Given the description of an element on the screen output the (x, y) to click on. 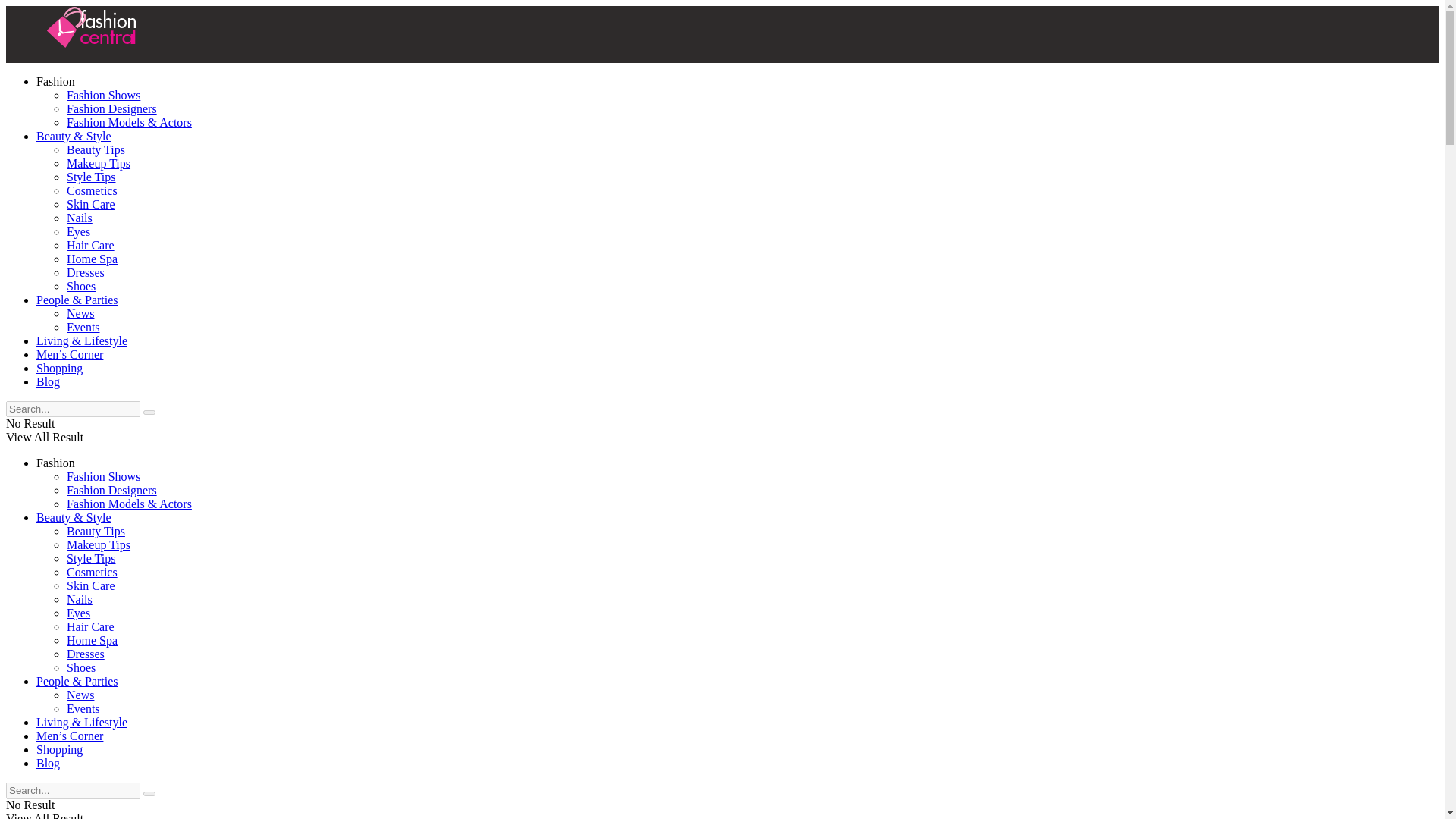
Skin Care (90, 585)
Beauty Tips (95, 530)
Fashion Designers (111, 490)
Fashion (55, 462)
Events (83, 327)
Home Spa (91, 258)
Beauty Tips (95, 149)
Fashion Shows (102, 476)
Nails (79, 217)
News (80, 313)
Fashion (55, 81)
Cosmetics (91, 190)
Shoes (81, 286)
Fashion Designers (111, 108)
Skin Care (90, 204)
